Given the description of an element on the screen output the (x, y) to click on. 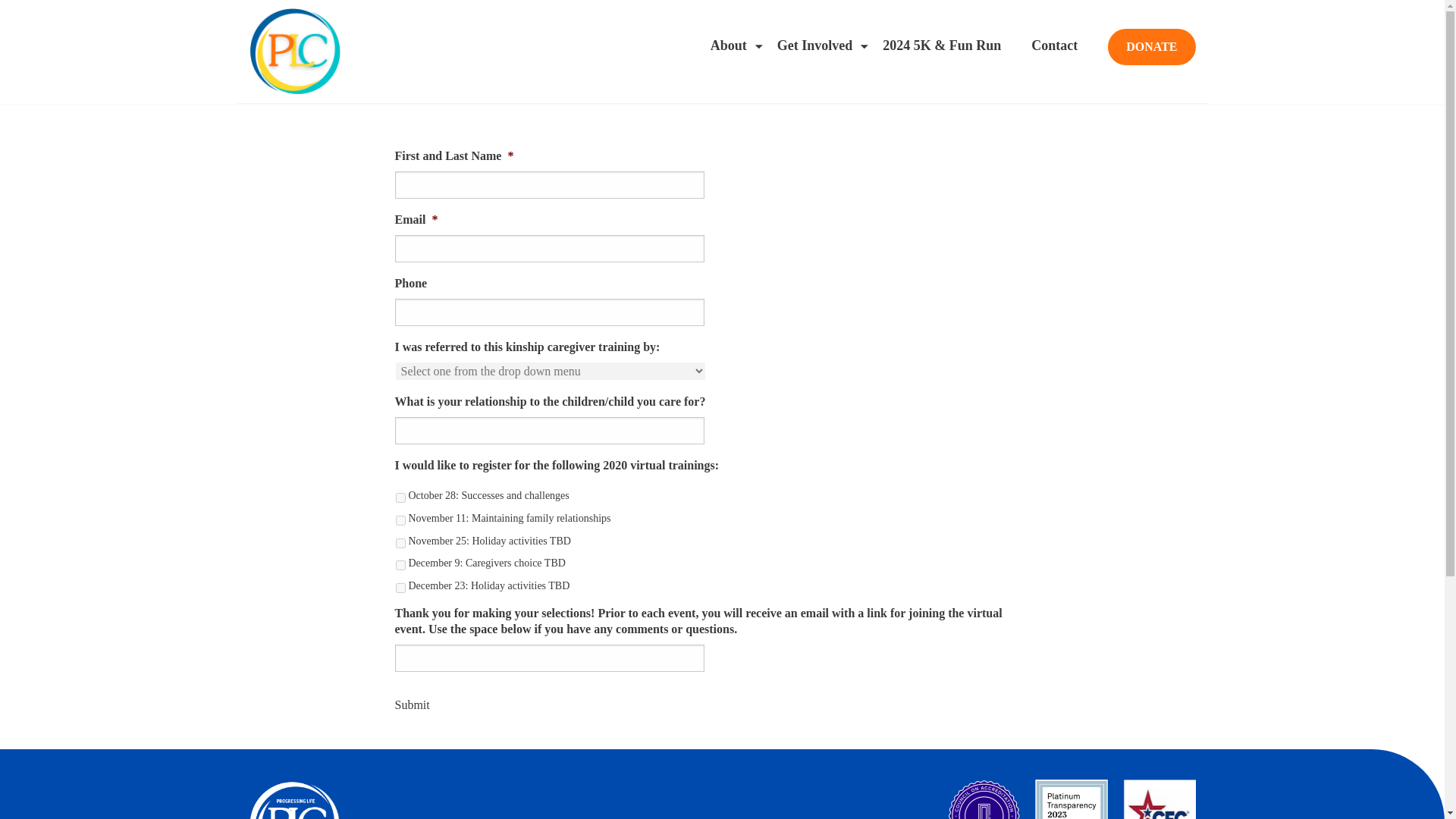
November 25: Holiday activities TBD (401, 542)
December 9: Caregivers choice TBD (401, 565)
December 23: Holiday activities TBD (401, 587)
Get Involved (814, 45)
Contact (1054, 45)
November 11: Maintaining family relationships (401, 520)
October 28: Successes and challenges (401, 497)
About (728, 45)
Submit (411, 705)
DONATE (1151, 46)
